Given the description of an element on the screen output the (x, y) to click on. 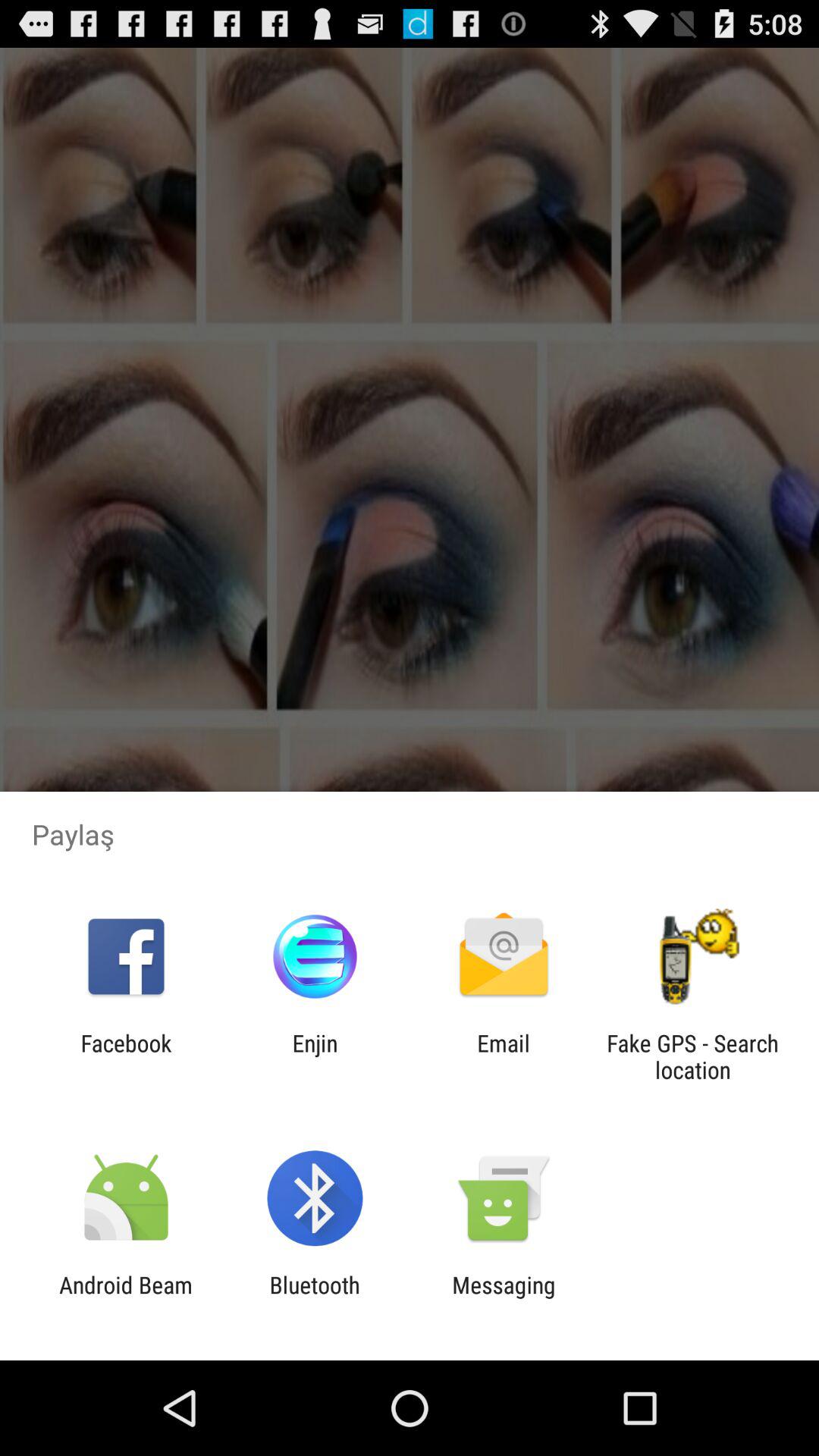
launch icon next to messaging app (314, 1298)
